Given the description of an element on the screen output the (x, y) to click on. 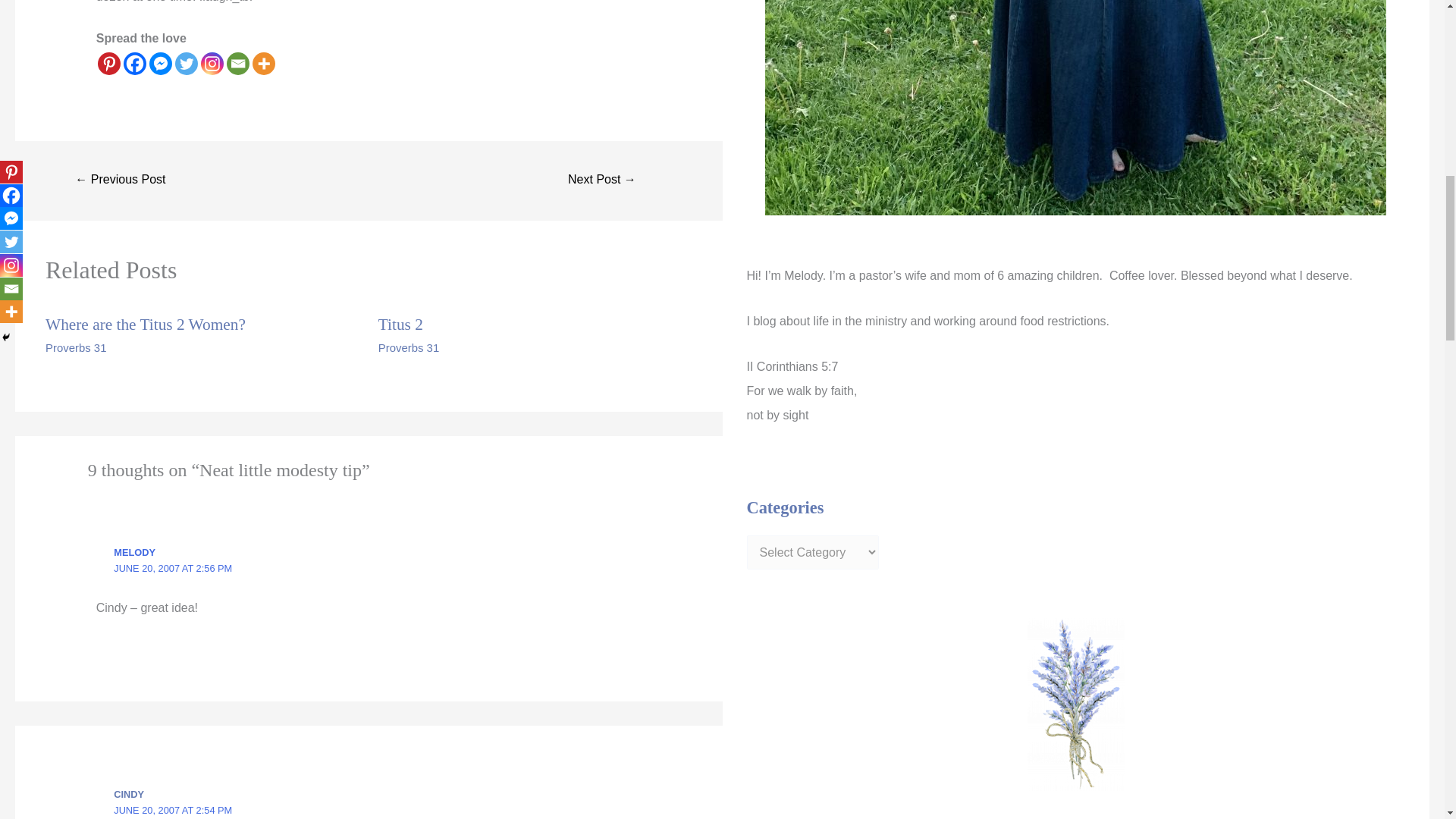
Pinterest (108, 63)
Facebook (135, 63)
A question answered (601, 180)
More (263, 63)
Instagram (212, 63)
Email (237, 63)
Our goat has a problem (119, 180)
Twitter (186, 63)
